Given the description of an element on the screen output the (x, y) to click on. 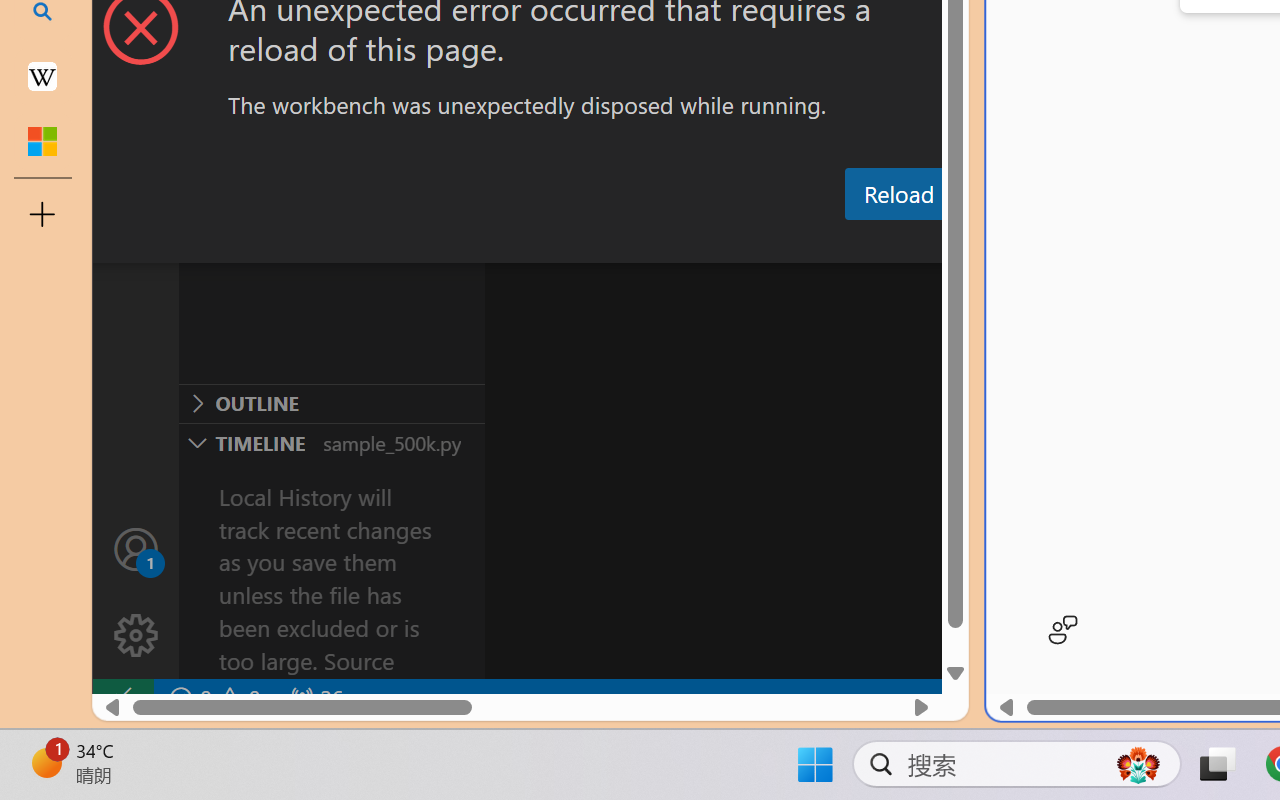
Terminal (Ctrl+`) (1021, 243)
remote (122, 698)
Debug Console (Ctrl+Shift+Y) (854, 243)
Problems (Ctrl+Shift+M) (567, 243)
